Given the description of an element on the screen output the (x, y) to click on. 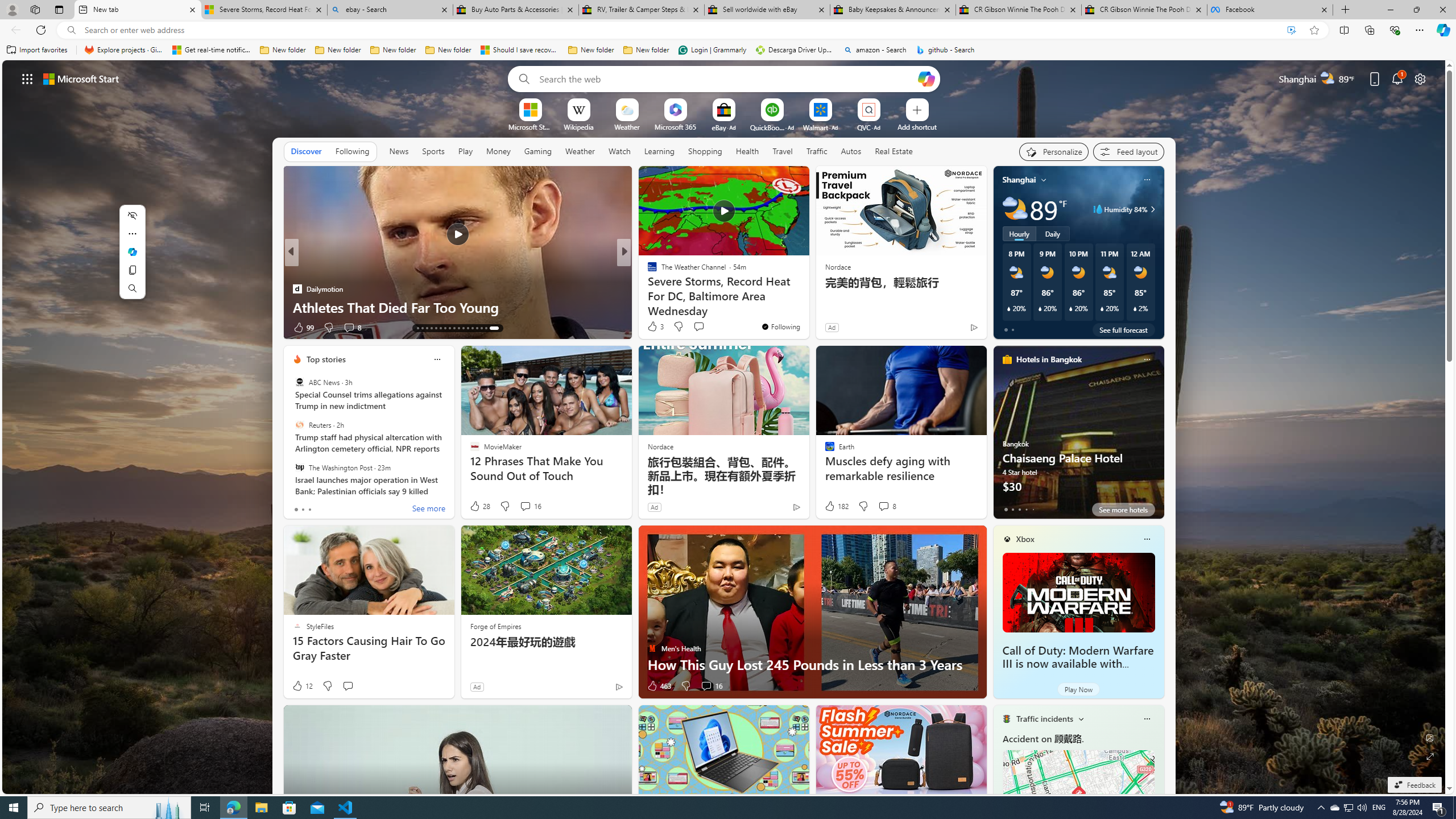
Mini menu on text selection (132, 251)
hotels-header-icon (1006, 358)
The Independent (647, 270)
12 Like (301, 685)
138 Like (654, 327)
463 Like (658, 685)
Like (648, 327)
View comments 8 Comment (887, 505)
View comments 96 Comment (707, 327)
View comments 167 Comment (709, 327)
tab-3 (1025, 509)
View comments 167 Comment (703, 327)
The Washington Post (299, 466)
